Given the description of an element on the screen output the (x, y) to click on. 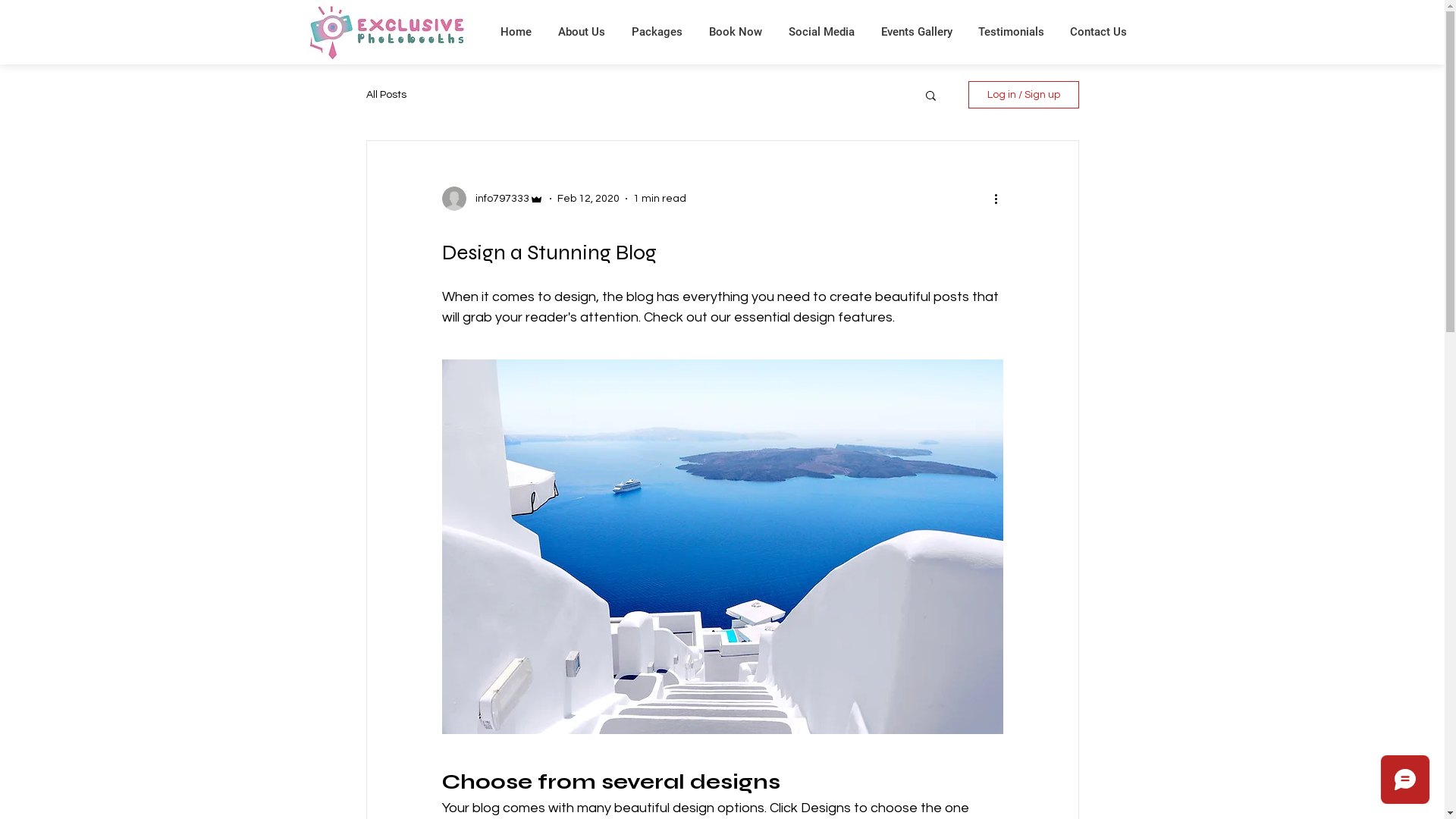
Log in / Sign up Element type: text (1022, 94)
Packages Element type: text (657, 31)
Contact Us Element type: text (1098, 31)
Testimonials Element type: text (1010, 31)
About Us Element type: text (581, 31)
Home Element type: text (515, 31)
Book Now Element type: text (735, 31)
1-01.jpg Element type: hover (386, 32)
All Posts Element type: text (385, 94)
Events Gallery Element type: text (915, 31)
Social Media Element type: text (821, 31)
